Given the description of an element on the screen output the (x, y) to click on. 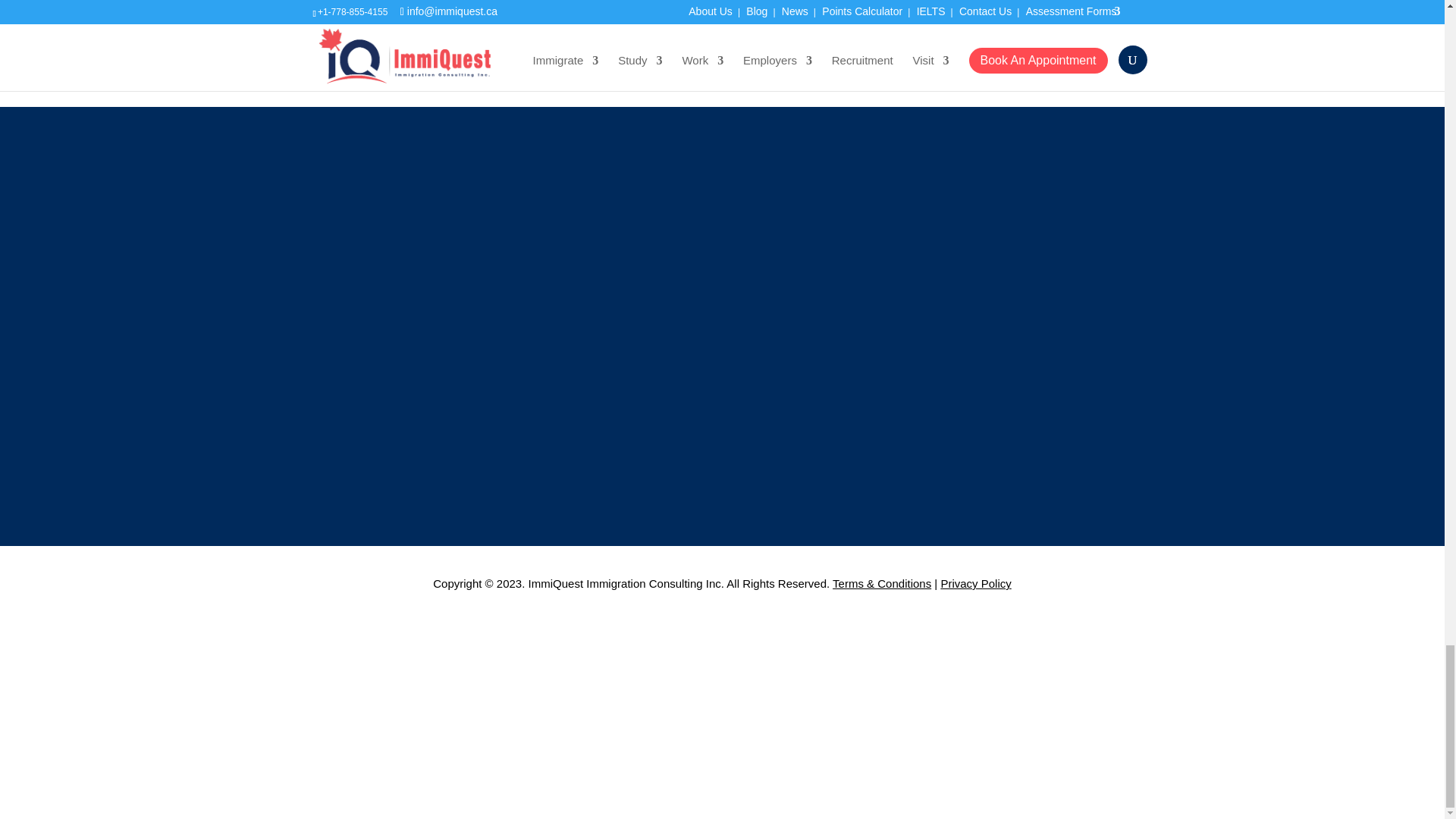
Follow on Facebook (324, 720)
Follow on Instagram (384, 720)
Follow on LinkedIn (354, 720)
